Given the description of an element on the screen output the (x, y) to click on. 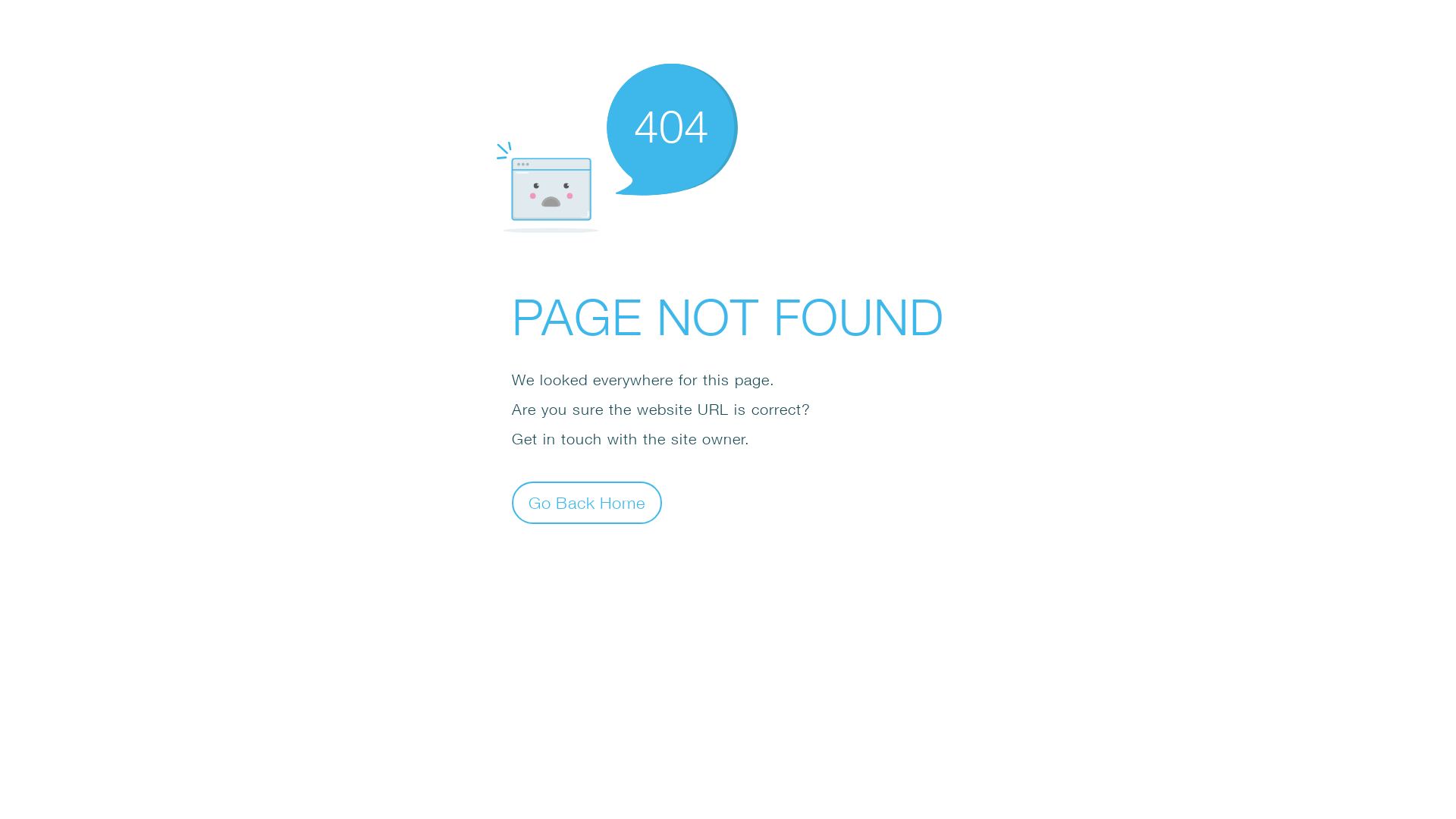
Go Back Home Element type: text (586, 502)
